Given the description of an element on the screen output the (x, y) to click on. 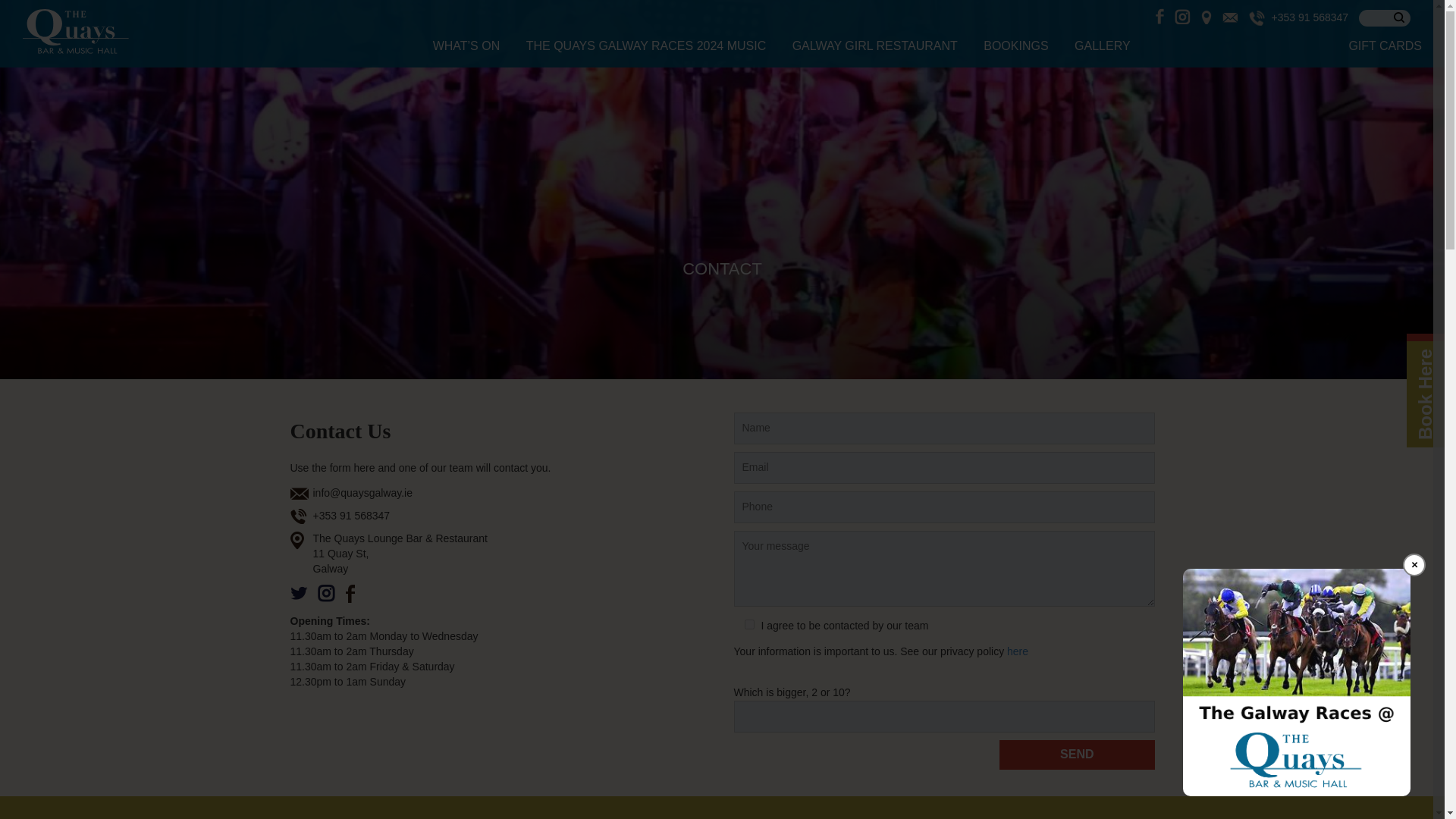
Twitter (298, 593)
Search (1384, 17)
Instagram (326, 593)
GALWAY GIRL RESTAURANT (875, 46)
here (1017, 651)
I agree to be contacted by our team (749, 624)
Send (1076, 754)
GIFT CARDS (1373, 46)
Send (1076, 754)
Facebook (355, 593)
BOOKINGS (1016, 46)
THE QUAYS GALWAY RACES 2024 MUSIC (646, 46)
GALLERY (1102, 46)
